Given the description of an element on the screen output the (x, y) to click on. 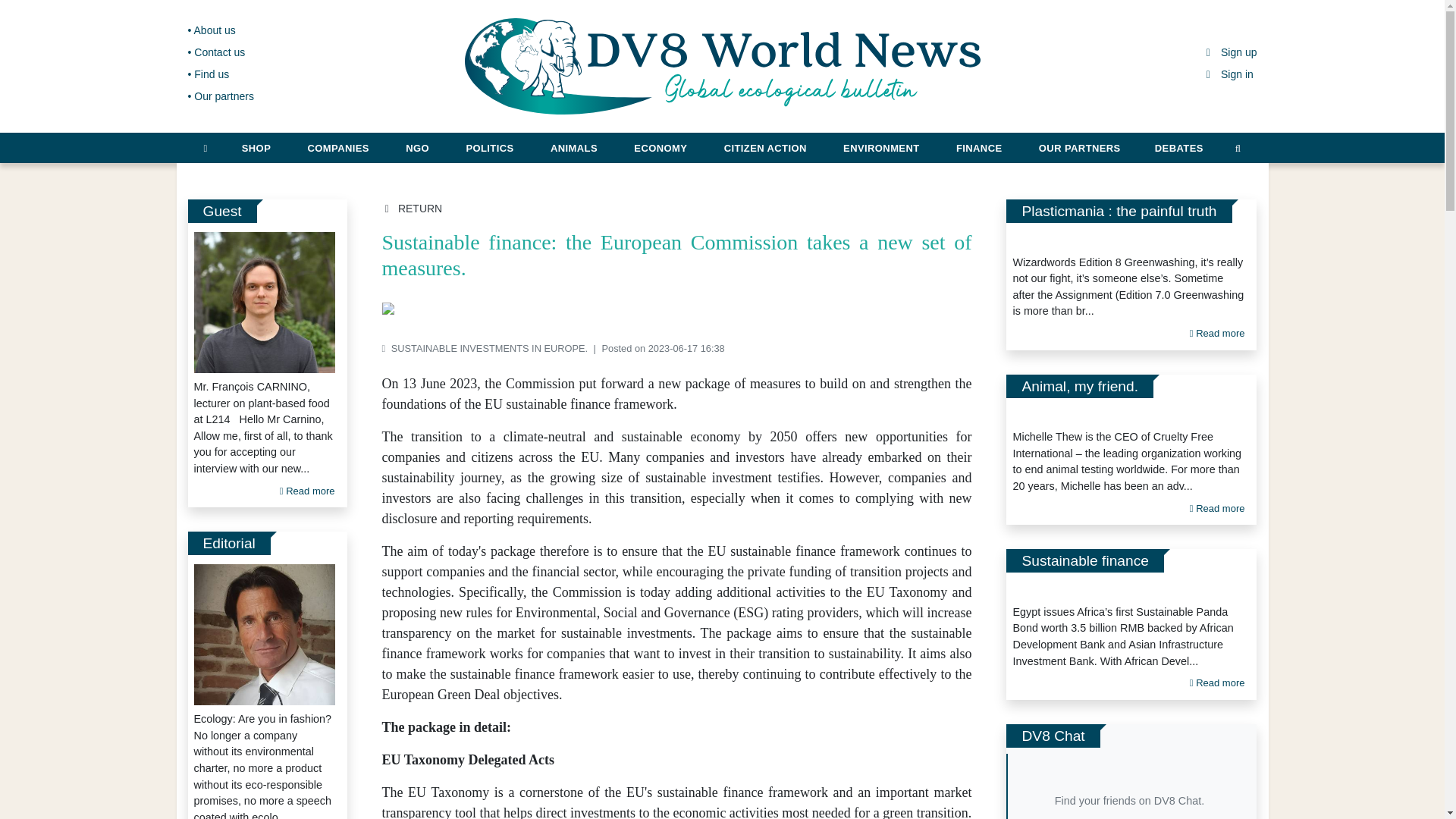
Sign up (1229, 51)
Sign in (1227, 73)
SHOP (256, 145)
Ecology: Are you in fashion? (263, 634)
English (1410, 13)
COMPANIES (338, 145)
